Given the description of an element on the screen output the (x, y) to click on. 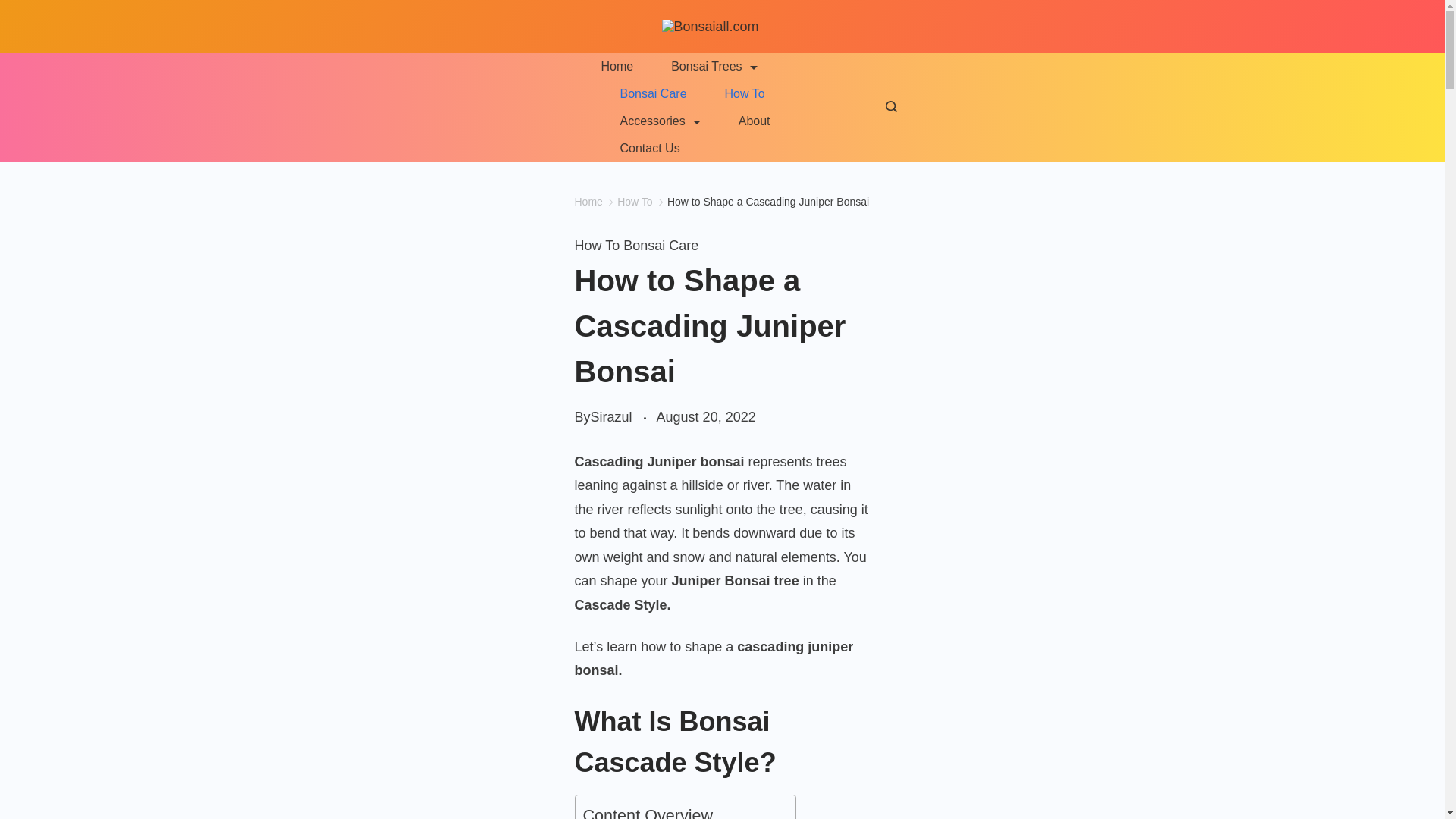
Bonsai Care (660, 245)
Bonsai Trees (714, 66)
How To (634, 201)
Accessories (659, 121)
Sirazul (611, 417)
How To (745, 93)
Home (625, 66)
How To (599, 245)
Bonsai Care (651, 93)
How to Shape a Cascading Juniper Bonsai (767, 201)
About (754, 121)
Home (588, 201)
Contact Us (639, 148)
